Given the description of an element on the screen output the (x, y) to click on. 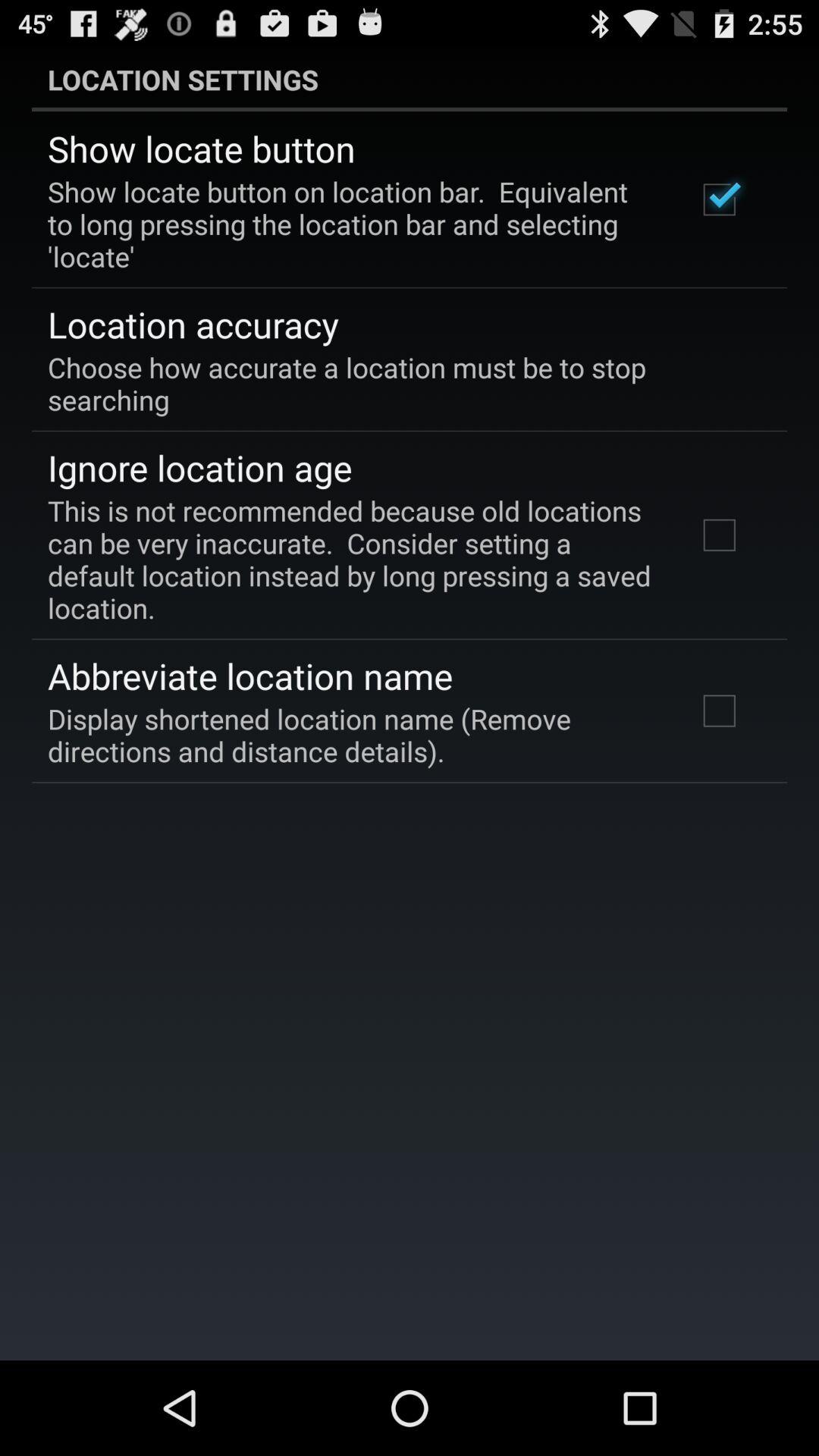
open the app above abbreviate location name (351, 558)
